Given the description of an element on the screen output the (x, y) to click on. 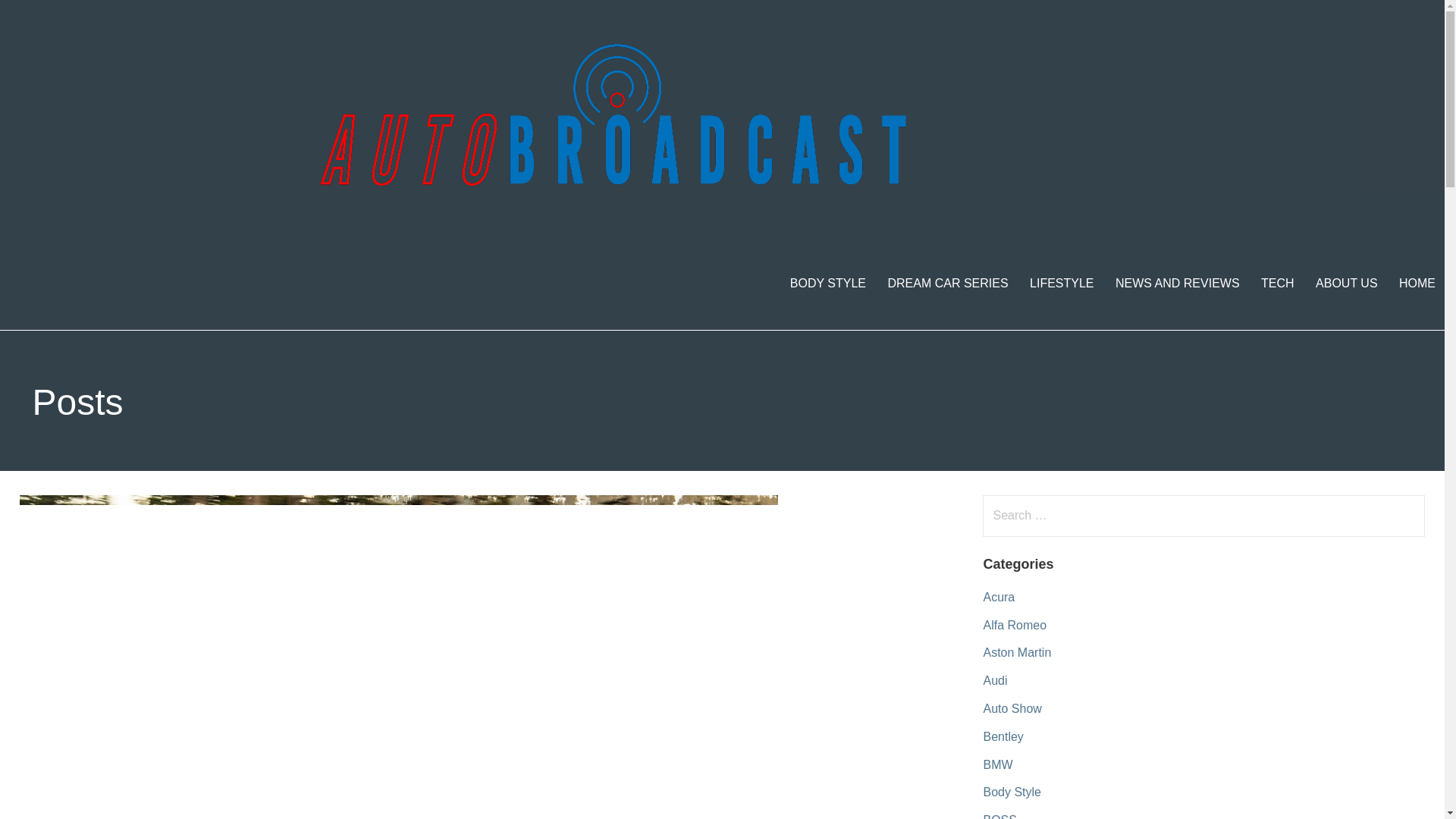
Acura (998, 596)
NEWS AND REVIEWS (1177, 282)
Search (42, 18)
Alfa Romeo (1014, 625)
BODY STYLE (827, 282)
DREAM CAR SERIES (946, 282)
